Given the description of an element on the screen output the (x, y) to click on. 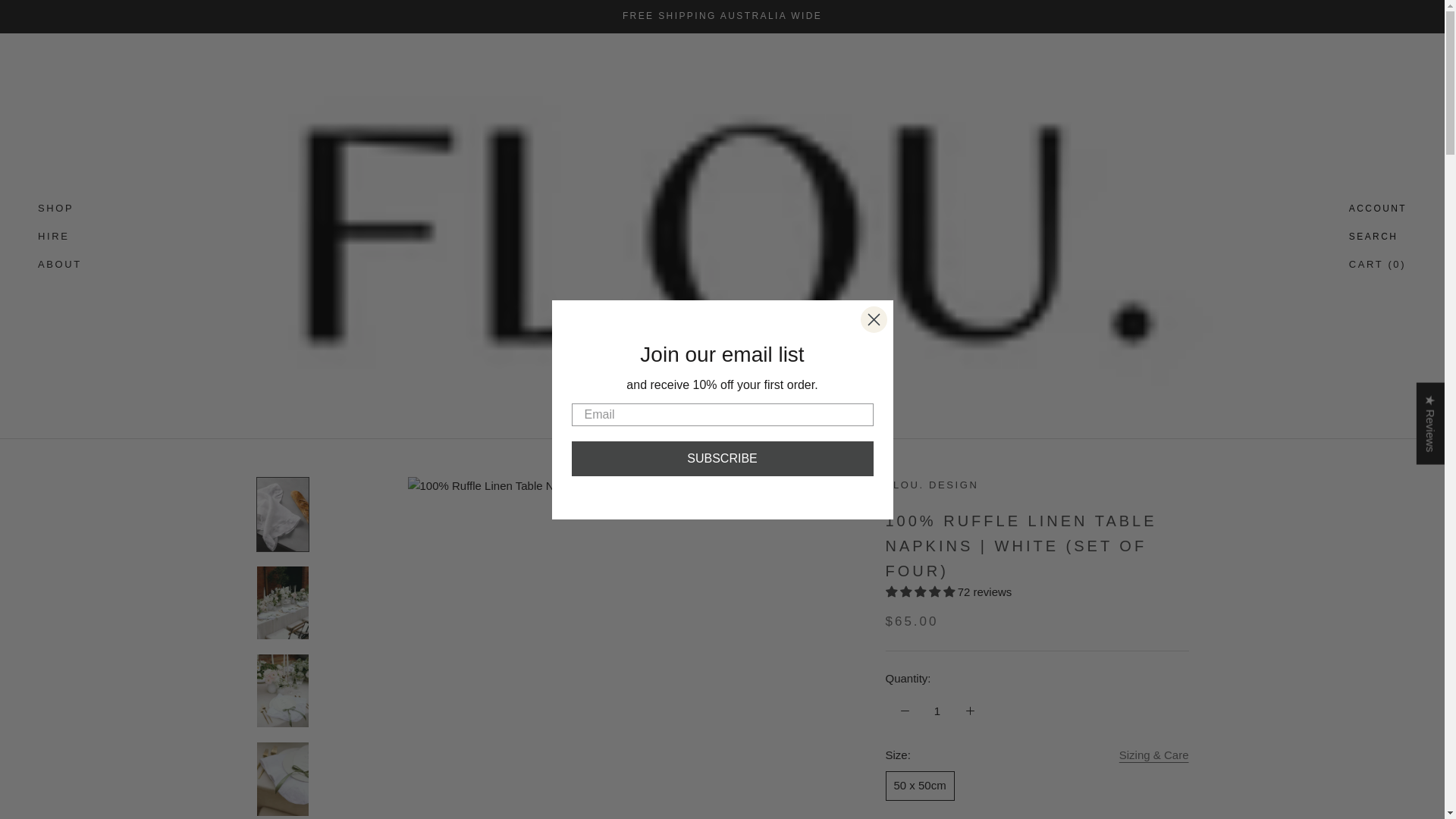
1 (936, 710)
